Given the description of an element on the screen output the (x, y) to click on. 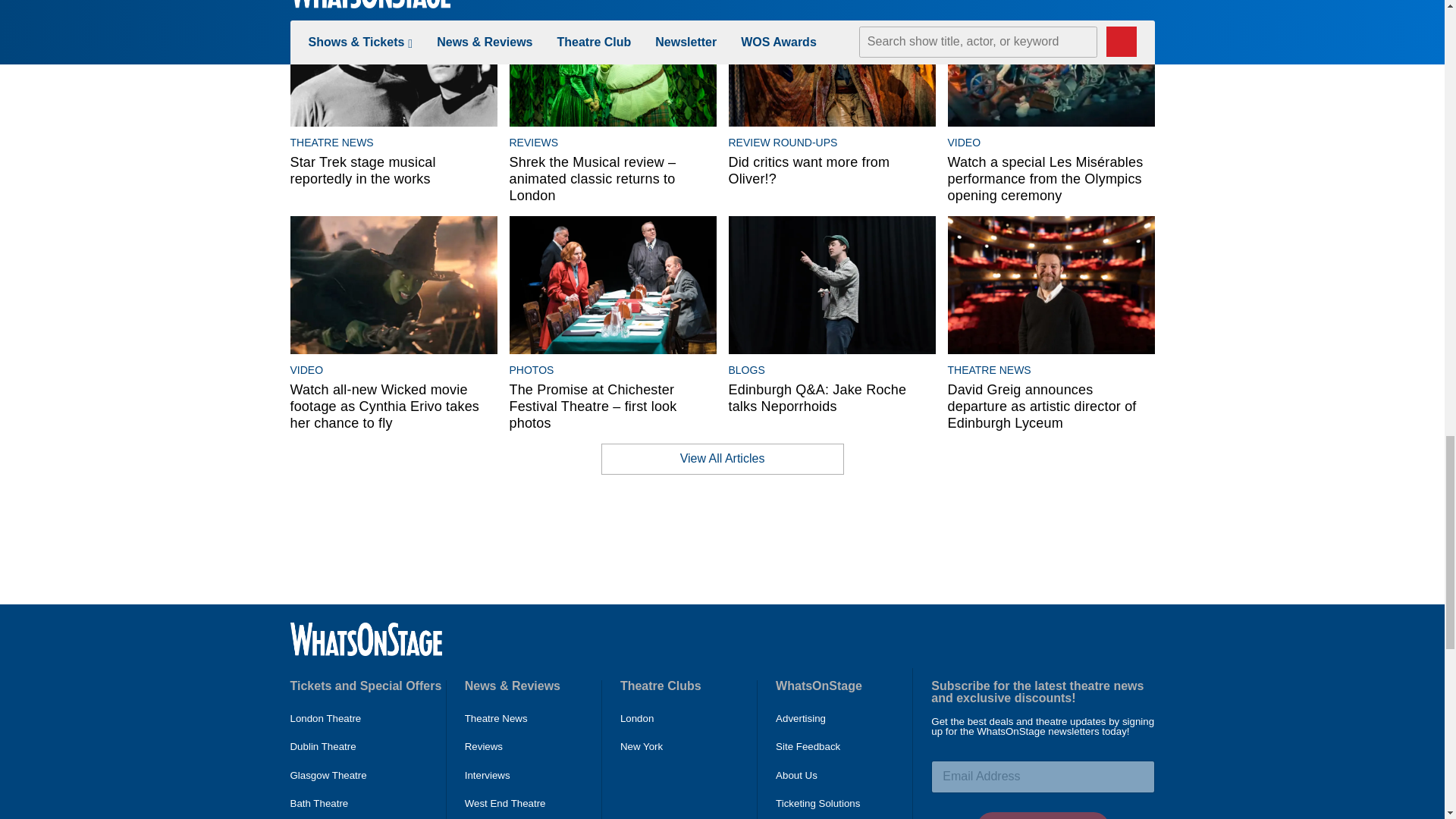
3rd party ad content (721, 539)
